Given the description of an element on the screen output the (x, y) to click on. 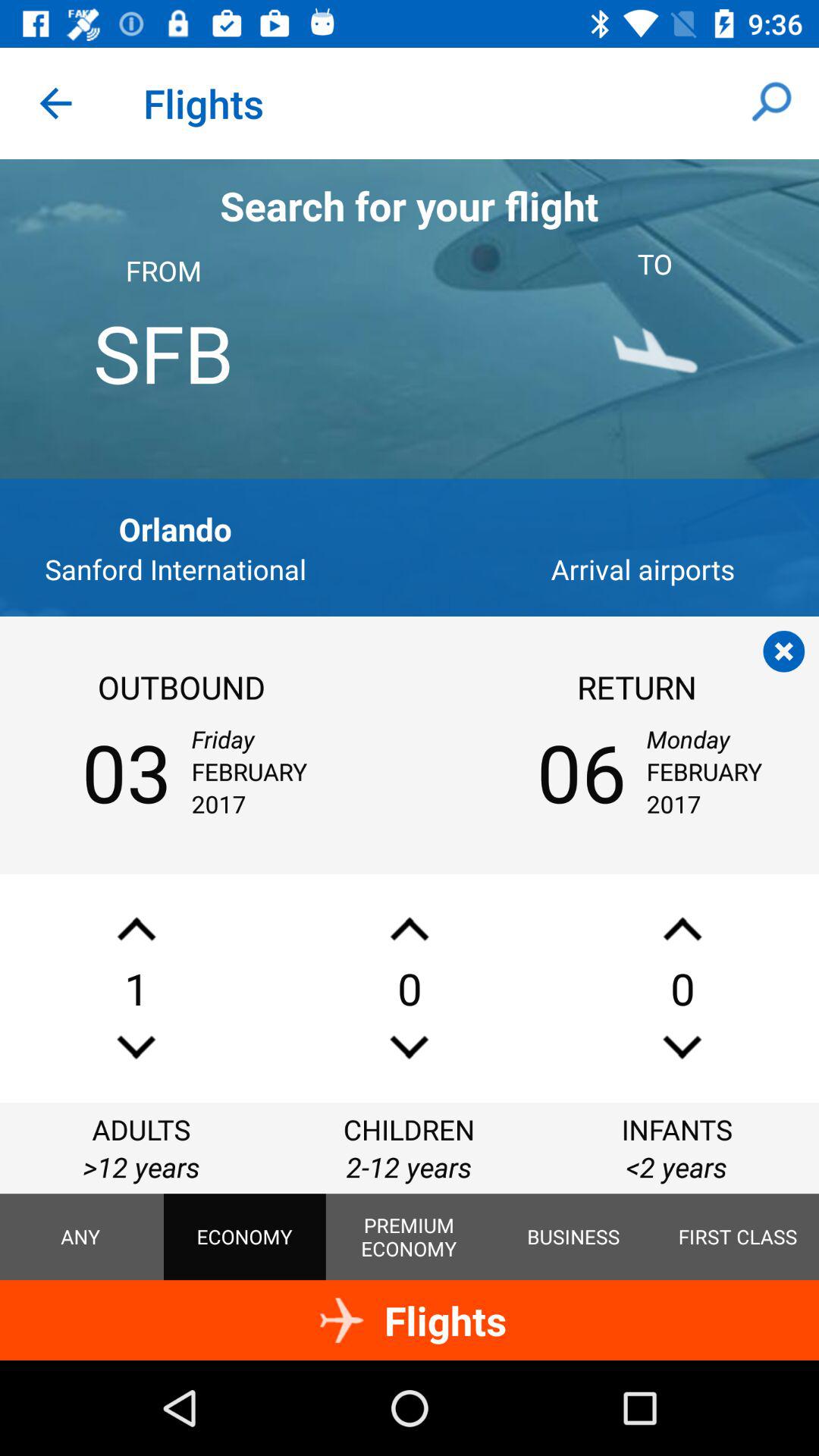
swipe until the first class item (737, 1236)
